Given the description of an element on the screen output the (x, y) to click on. 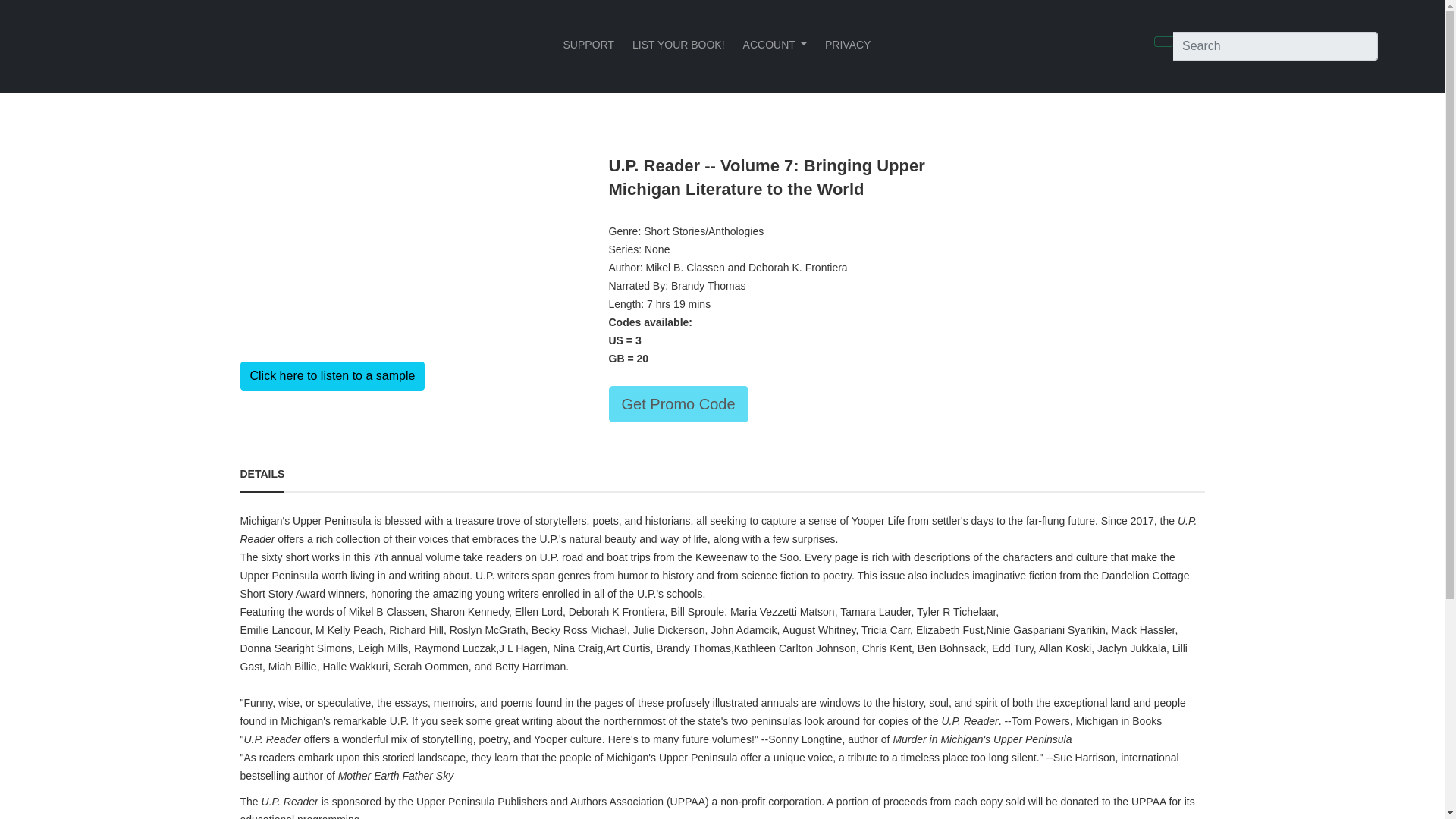
DETAILS (261, 473)
Mikel B. Classen and Deborah K. Frontiera (746, 267)
ACCOUNT (774, 44)
SUPPORT (588, 44)
Click here to listen to a sample (332, 375)
PRIVACY (847, 44)
None (657, 249)
Brandy Thomas (708, 285)
Get Promo Code (678, 403)
LIST YOUR BOOK! (678, 44)
